Given the description of an element on the screen output the (x, y) to click on. 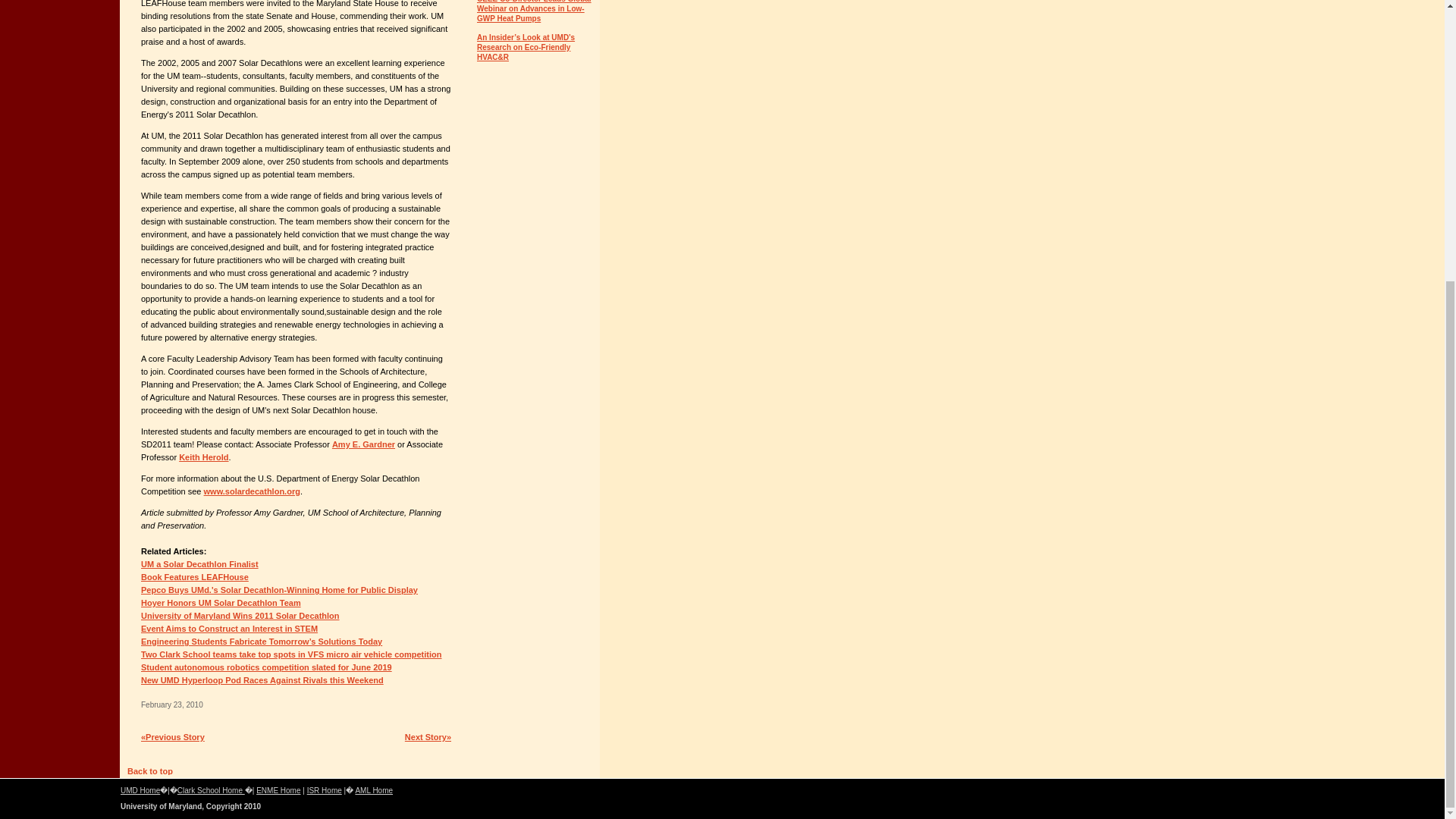
UM a Solar Decathlon Finalist (200, 563)
New UMD Hyperloop Pod Races Against Rivals this Weekend (262, 679)
www.solardecathlon.org (251, 491)
Book Features LEAFHouse (194, 576)
University of Maryland Wins 2011 Solar Decathlon (240, 614)
Hoyer Honors UM Solar Decathlon Team (221, 602)
Student autonomous robotics competition slated for June 2019 (266, 666)
Keith Herold (203, 456)
